Given the description of an element on the screen output the (x, y) to click on. 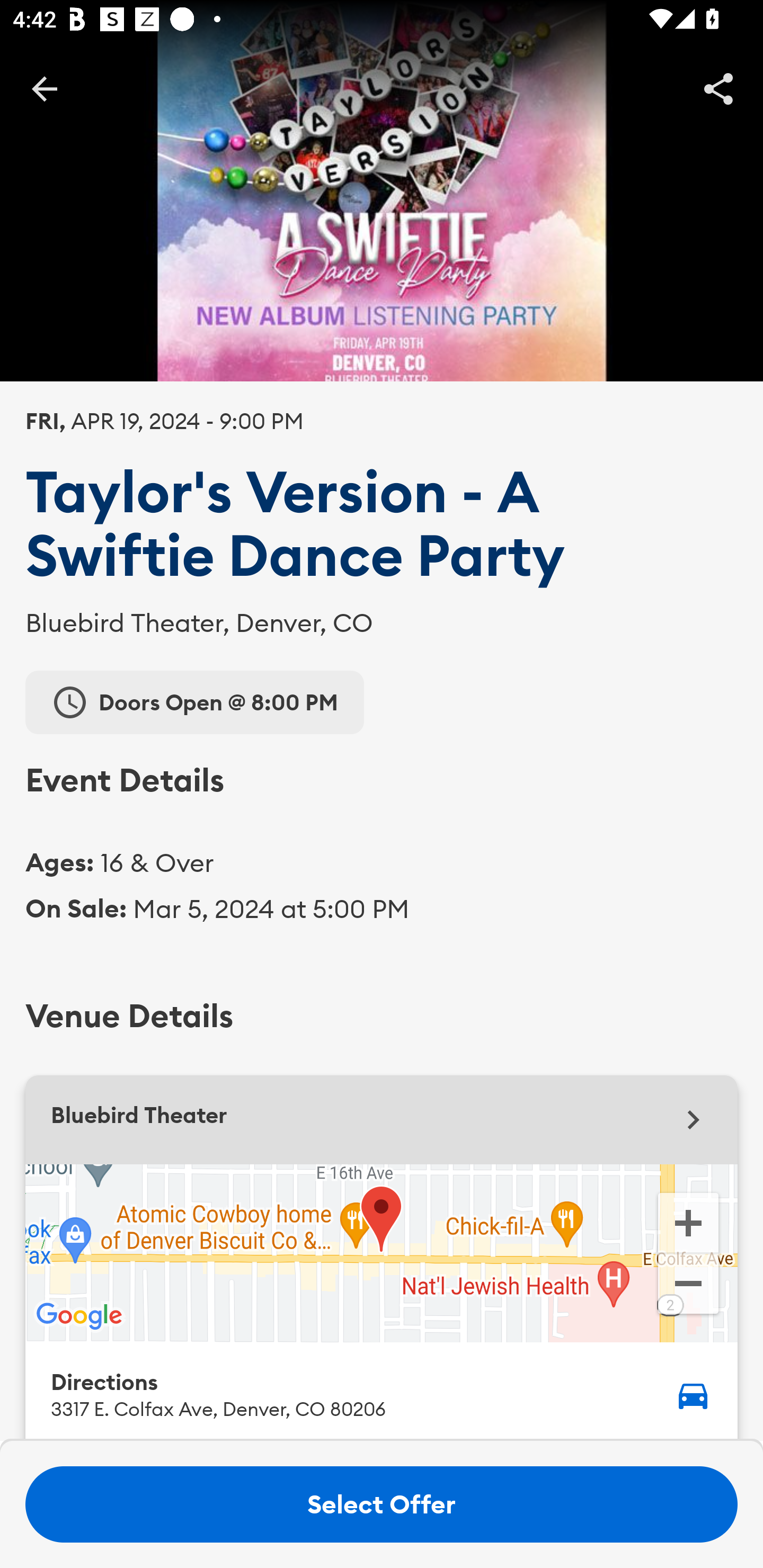
BackButton (44, 88)
Share (718, 88)
Bluebird Theater (381, 1120)
Google Map Bluebird Theater.  Zoom in Zoom out (381, 1253)
Zoom in (687, 1221)
Zoom out (687, 1285)
Directions 3317 E. Colfax Ave, Denver, CO 80206 (381, 1391)
Select Offer (381, 1504)
